Given the description of an element on the screen output the (x, y) to click on. 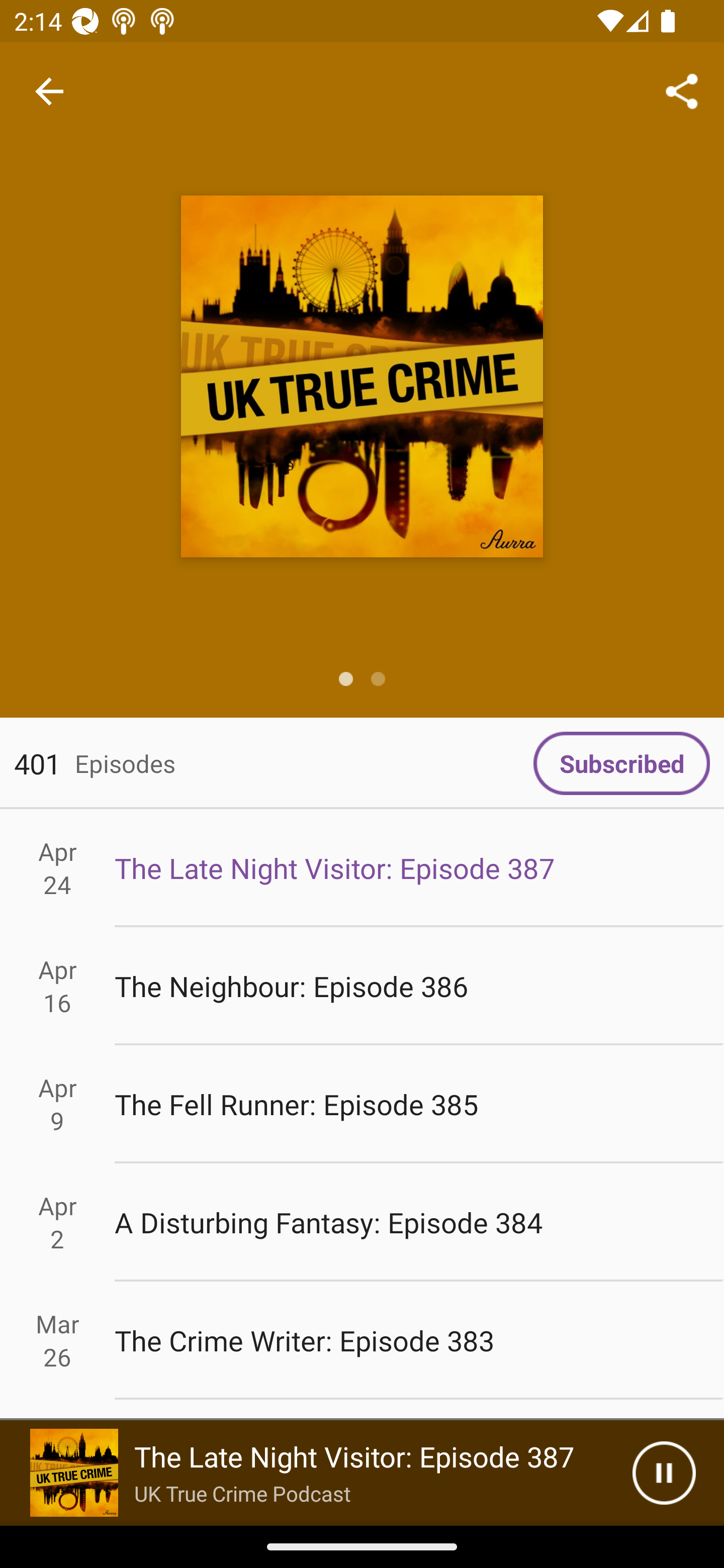
Navigate up (49, 91)
Share... (681, 90)
Subscribed (621, 763)
Apr 24 The Late Night Visitor: Episode 387 (362, 867)
Apr 16 The Neighbour: Episode 386 (362, 985)
Apr 9 The Fell Runner: Episode 385 (362, 1104)
Apr 2 A Disturbing Fantasy: Episode 384 (362, 1222)
Mar 26 The Crime Writer: Episode 383 (362, 1340)
Pause (663, 1472)
